Given the description of an element on the screen output the (x, y) to click on. 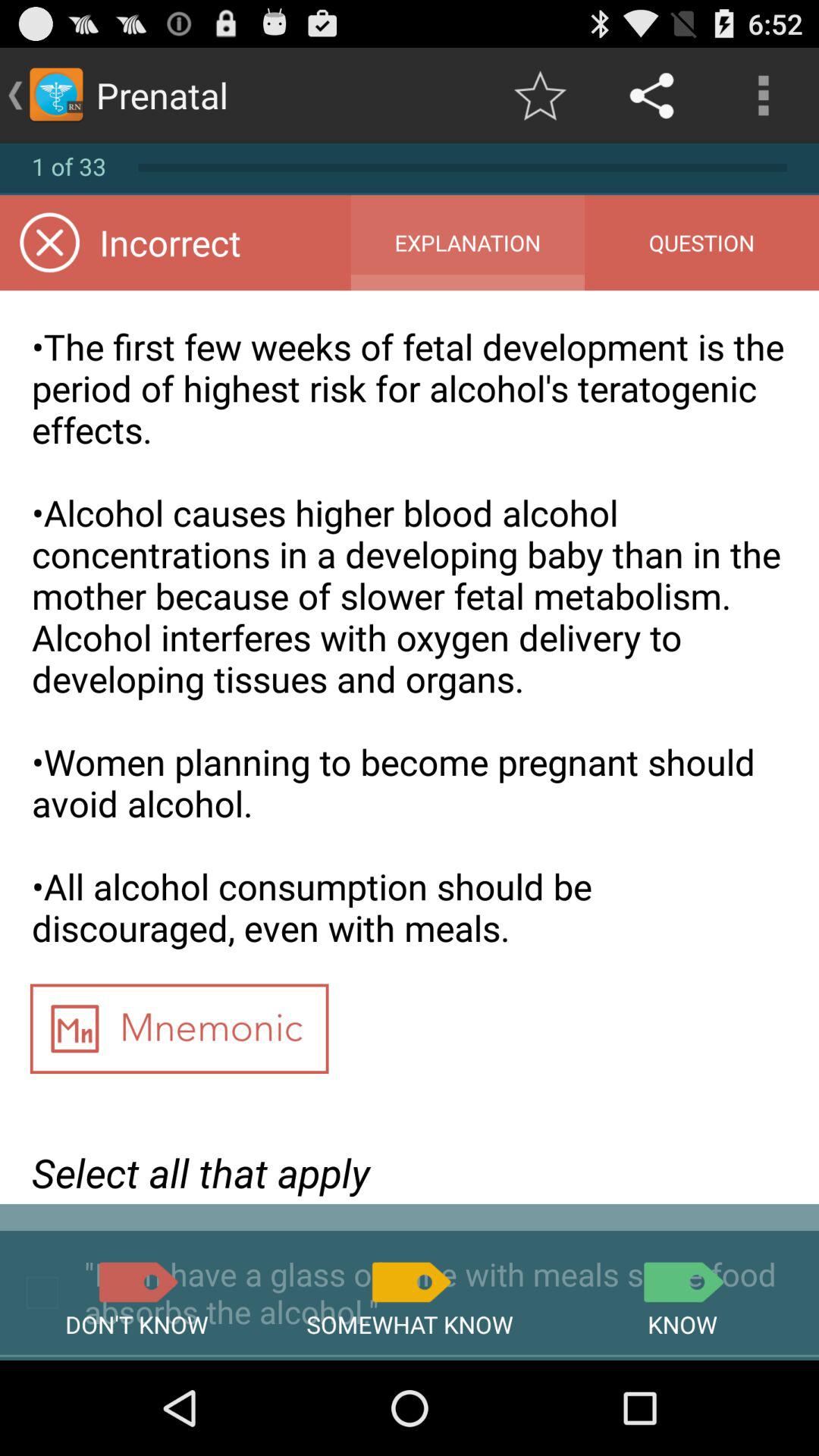
choose the icon below the first few item (682, 1281)
